Given the description of an element on the screen output the (x, y) to click on. 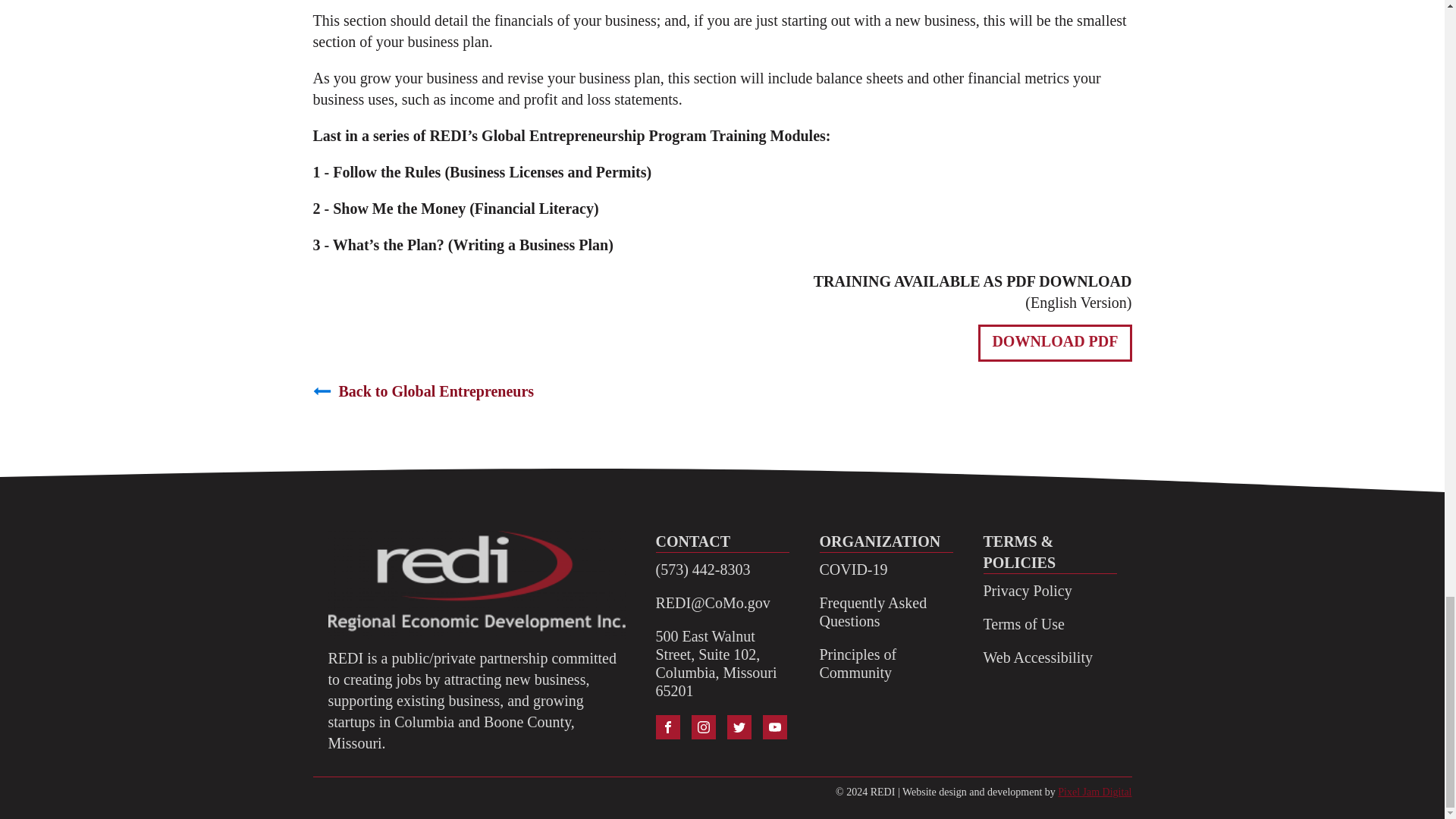
Website design and development by Pixel Jam Digital (1094, 791)
